Given the description of an element on the screen output the (x, y) to click on. 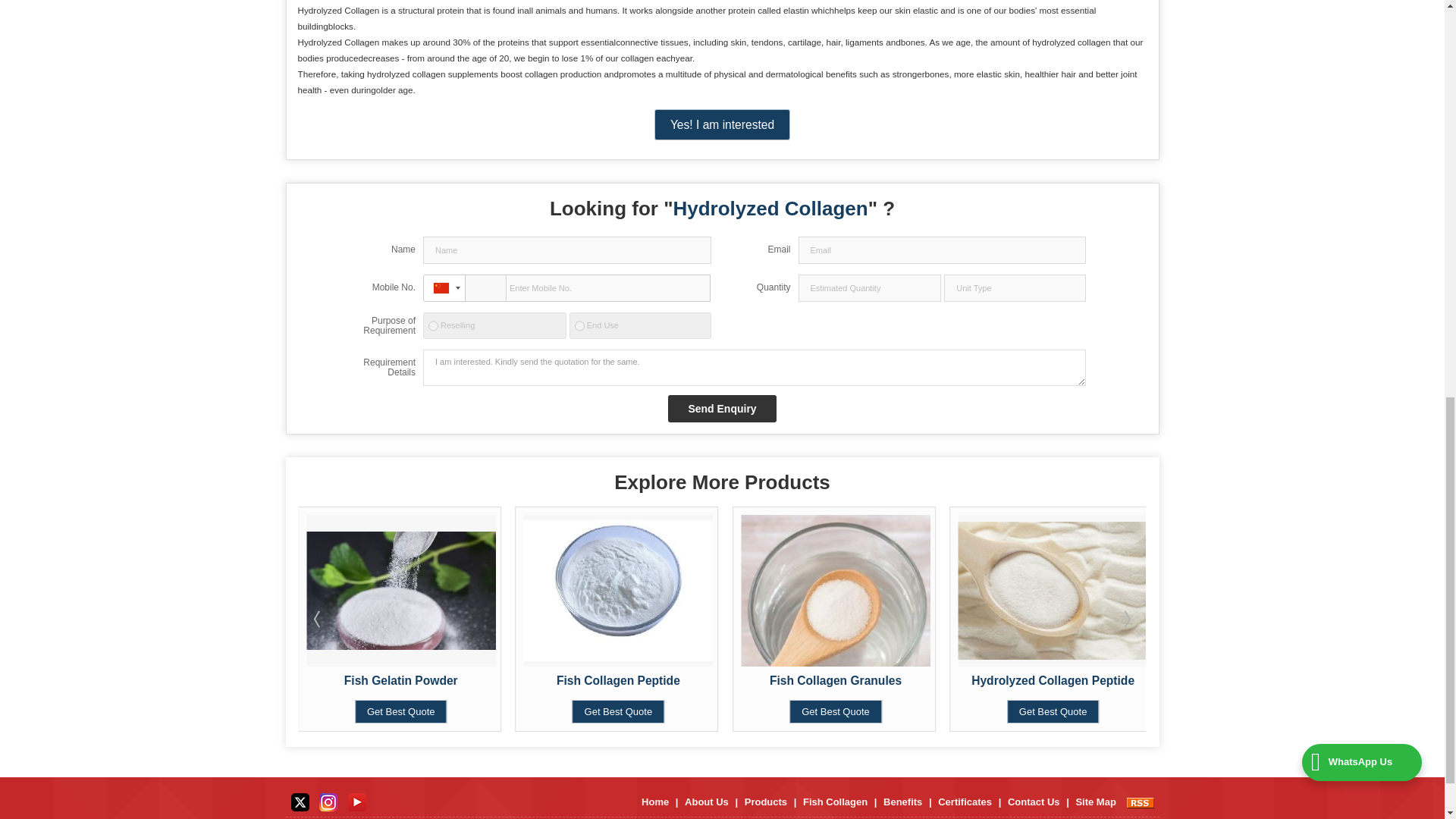
Send Enquiry (722, 408)
Send Enquiry (722, 408)
Yes! I am interested (721, 124)
